Given the description of an element on the screen output the (x, y) to click on. 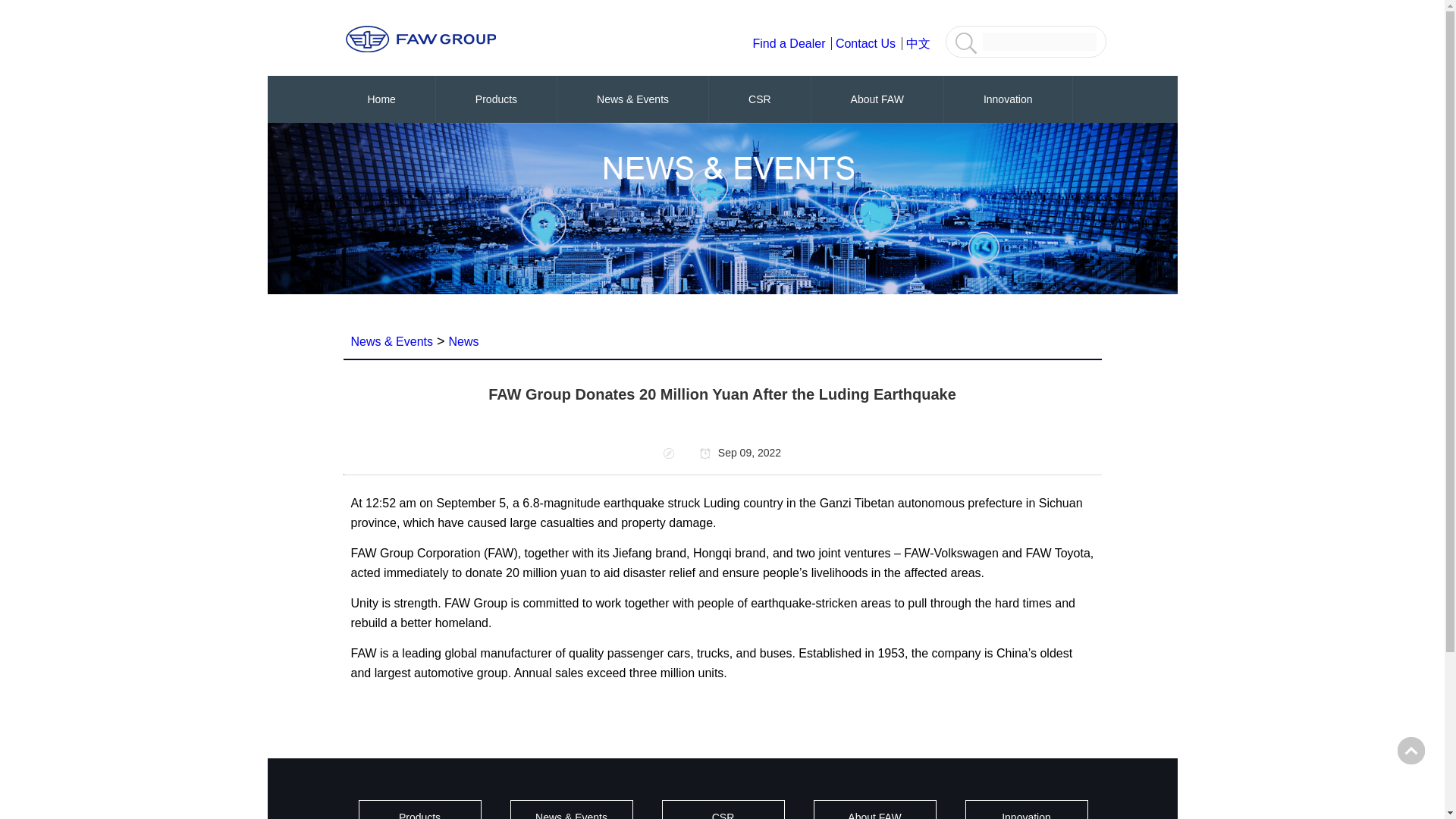
Products (496, 99)
Contact Us (868, 42)
About FAW (876, 99)
Find a Dealer (791, 42)
Home (381, 99)
CSR (759, 99)
